Given the description of an element on the screen output the (x, y) to click on. 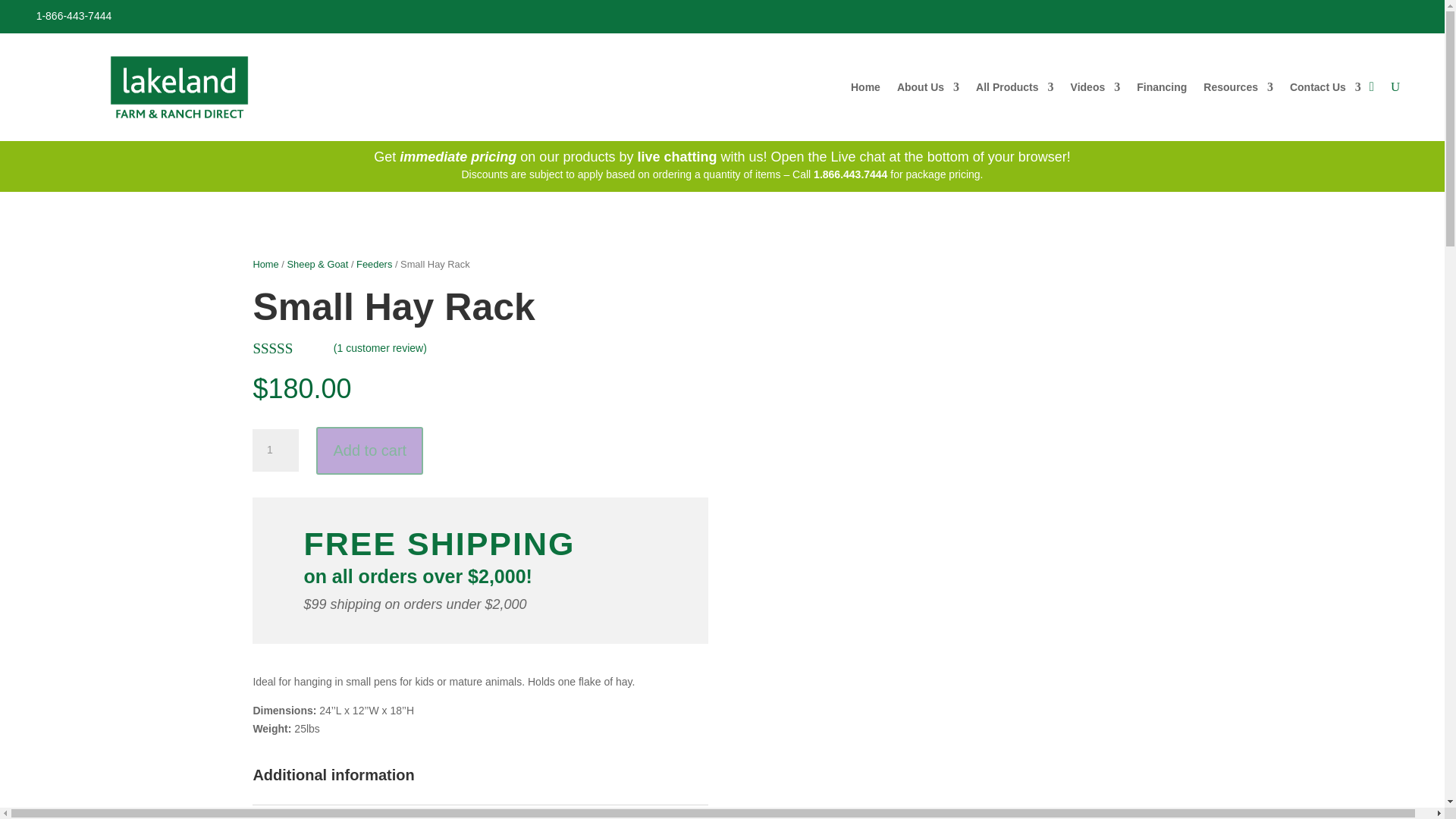
Feeders (373, 264)
Home (264, 264)
Contact Us (1325, 89)
1 (274, 450)
Add to cart (369, 450)
Feeders (445, 815)
Financing (1161, 89)
All Products (1013, 89)
Resources (1238, 89)
Home (865, 89)
Buy Online (394, 815)
About Us (927, 89)
Videos (1095, 89)
